Given the description of an element on the screen output the (x, y) to click on. 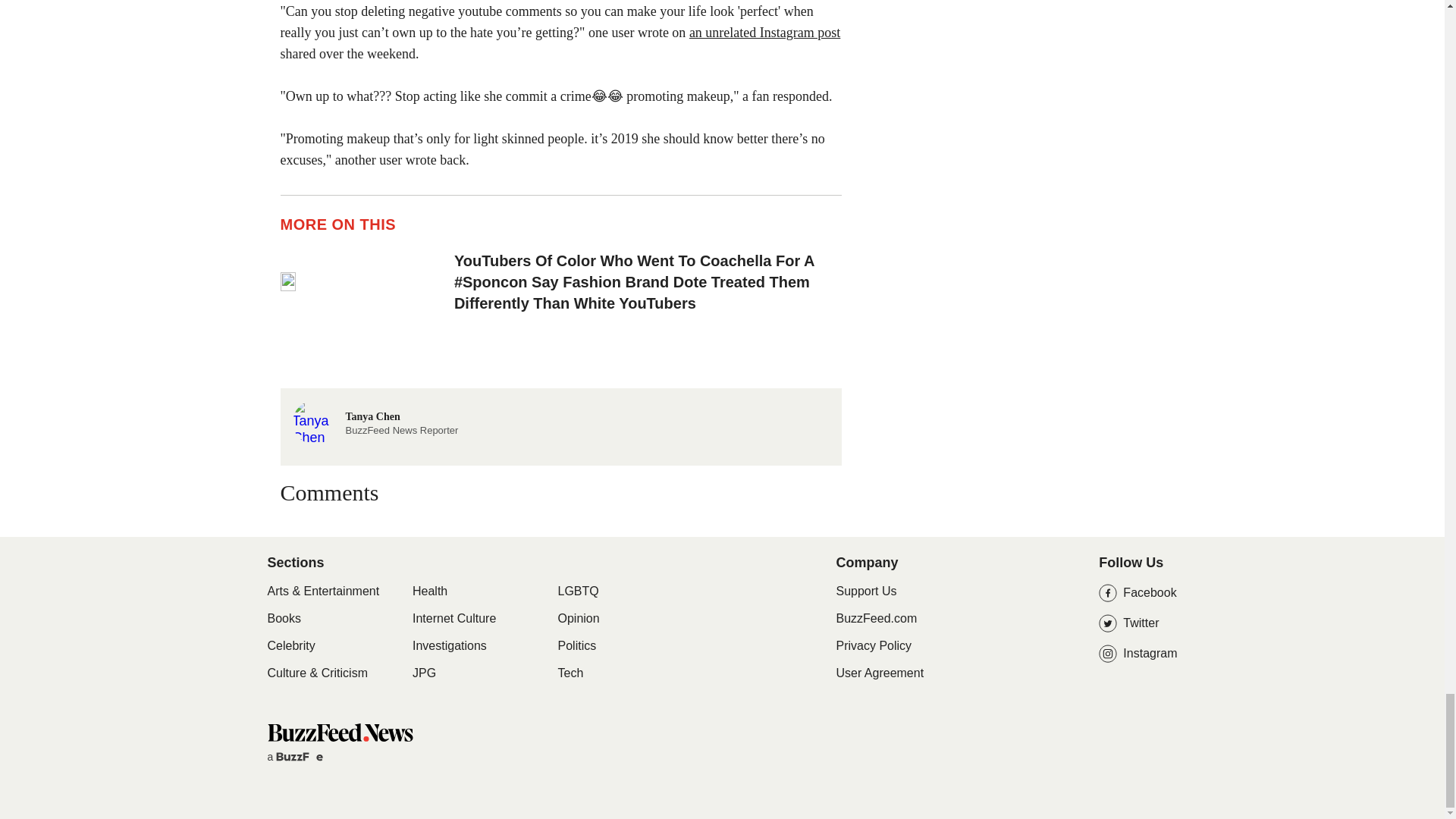
Health (429, 590)
BuzzFeed (303, 756)
an unrelated Instagram post (764, 32)
Books (282, 618)
Celebrity (375, 420)
BuzzFeed News Home (290, 645)
